Given the description of an element on the screen output the (x, y) to click on. 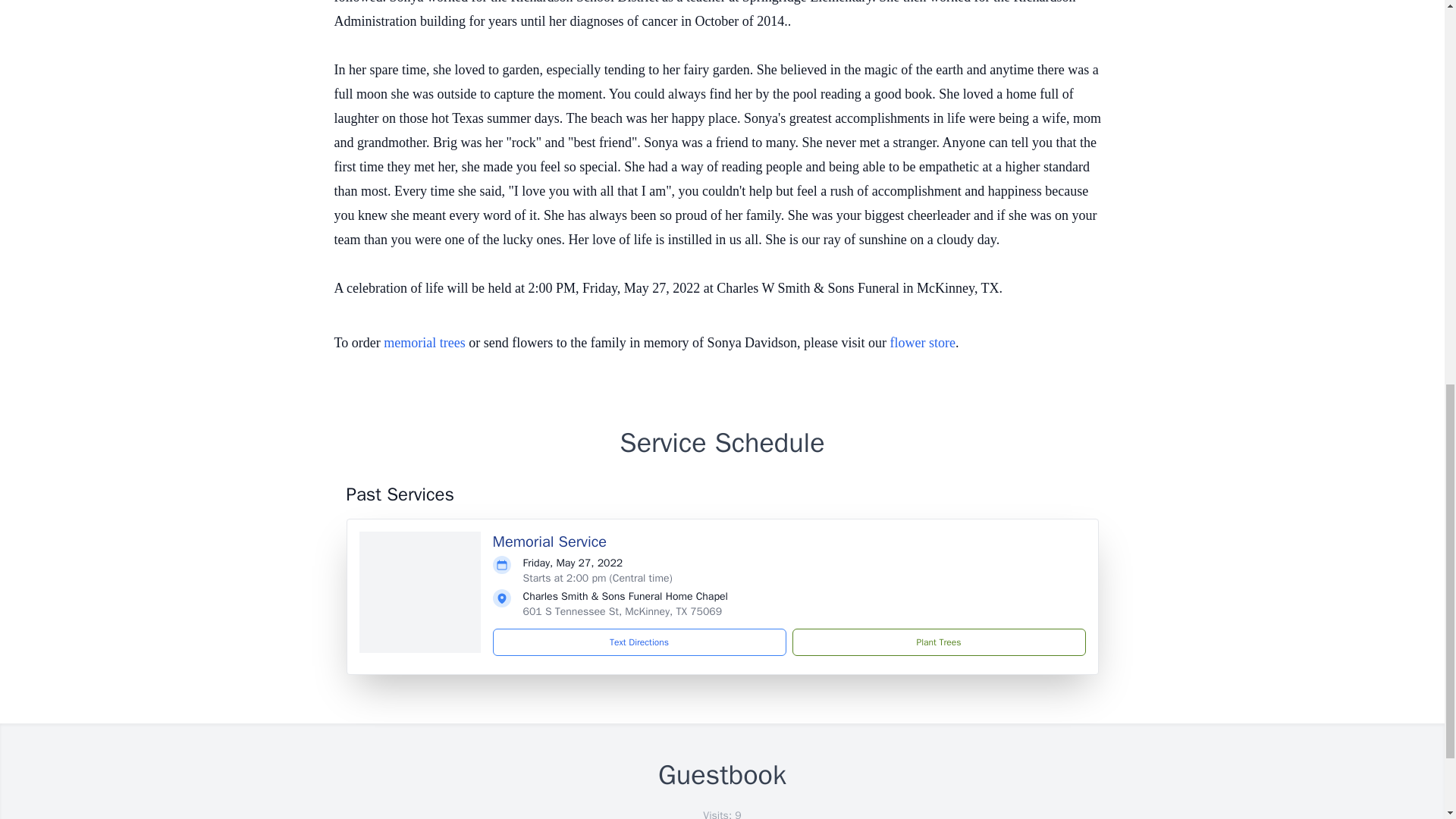
601 S Tennessee St, McKinney, TX 75069 (622, 611)
memorial trees (424, 342)
Plant Trees (938, 642)
Text Directions (639, 642)
flower store (922, 342)
